Given the description of an element on the screen output the (x, y) to click on. 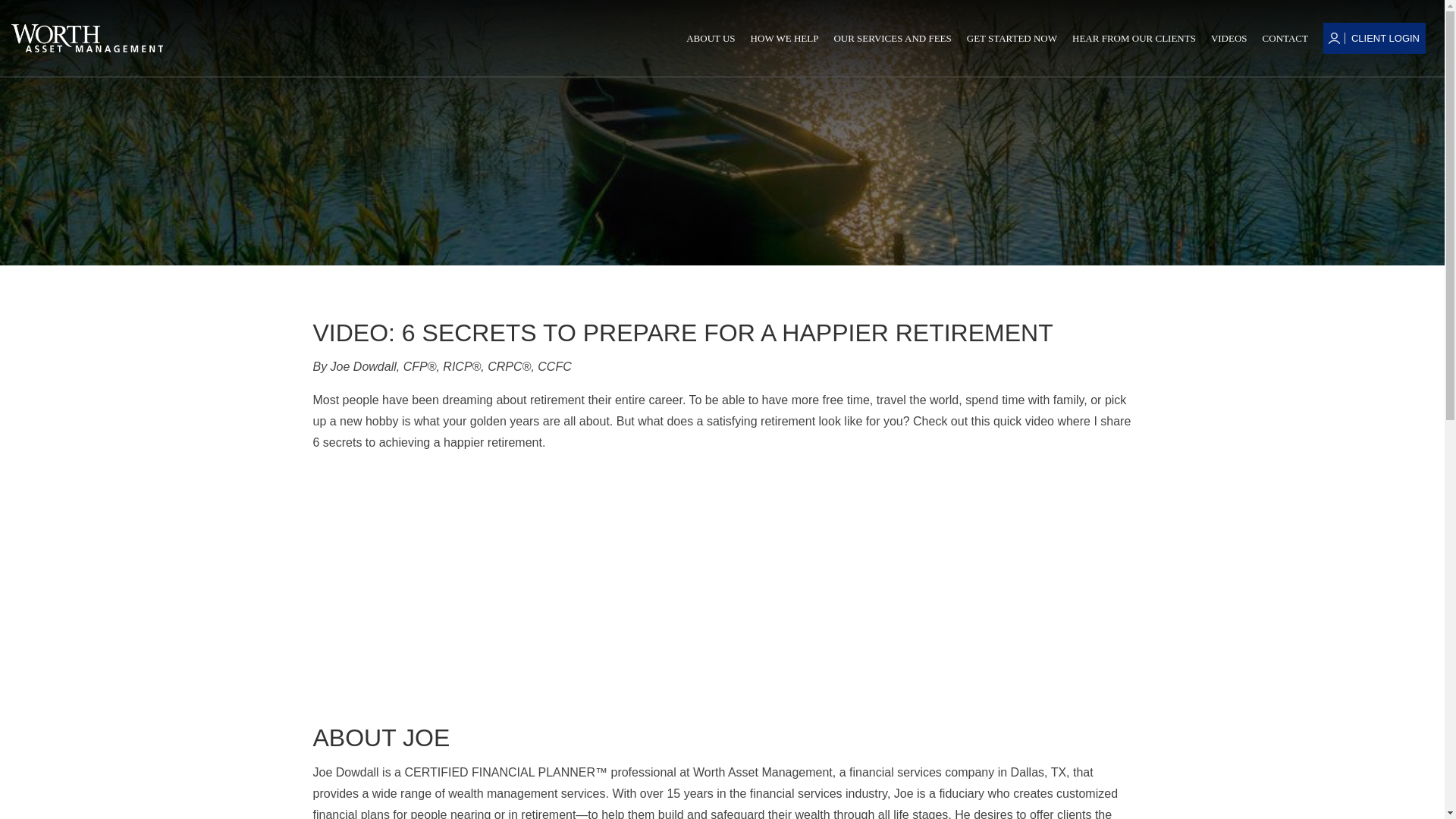
CLIENT LOGIN (1381, 38)
OUR SERVICES AND FEES (891, 38)
VIDEOS (1229, 38)
GET STARTED NOW (1011, 38)
HEAR FROM OUR CLIENTS (1133, 38)
YouTube video player (524, 585)
ABOUT US (710, 38)
HOW WE HELP (784, 38)
CONTACT (1284, 38)
